Given the description of an element on the screen output the (x, y) to click on. 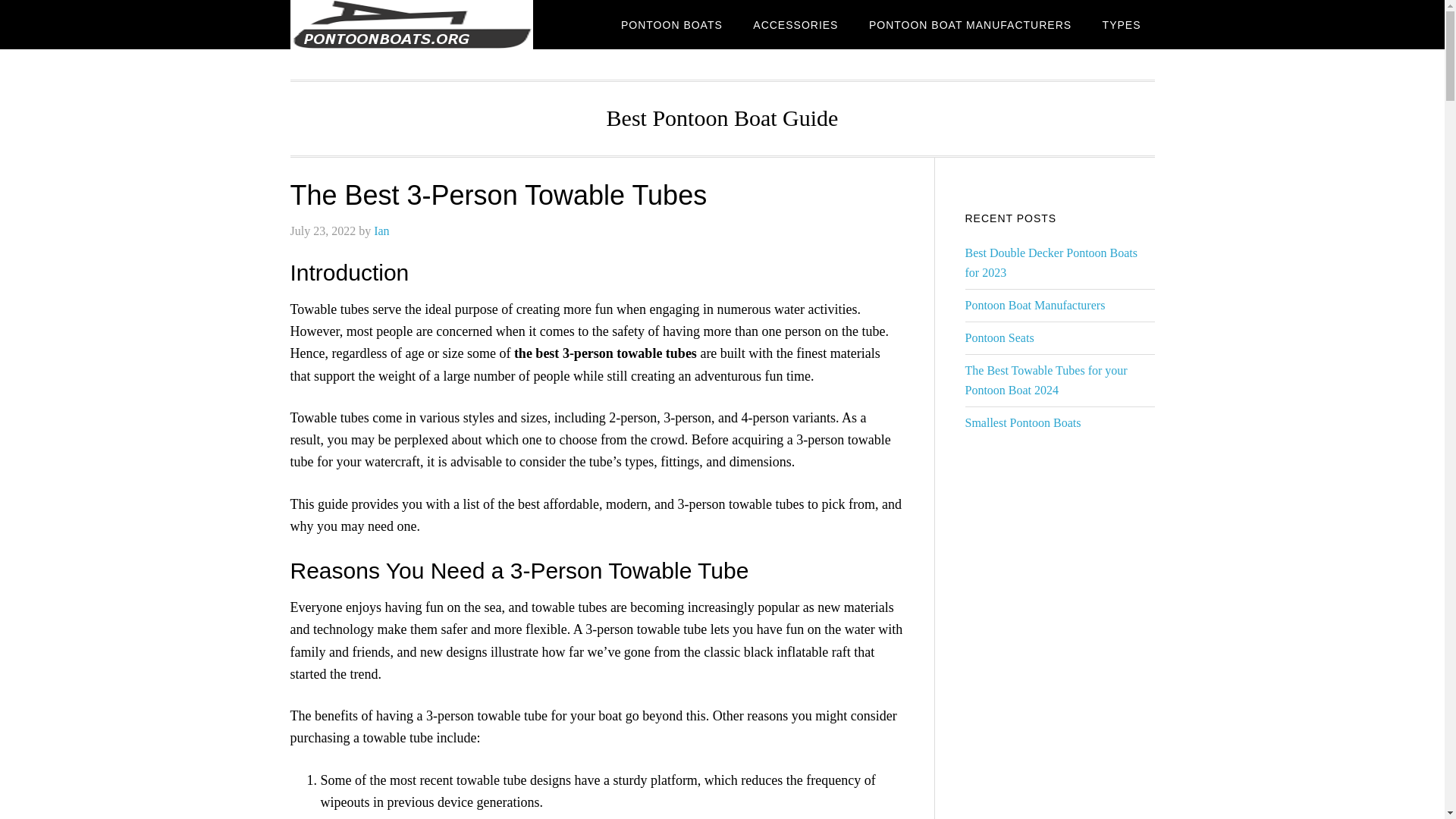
ACCESSORIES (795, 24)
PONTOON BOAT MANUFACTURERS (970, 24)
PONTOON BOATS (671, 24)
PONTOON BOATS (410, 24)
